Given the description of an element on the screen output the (x, y) to click on. 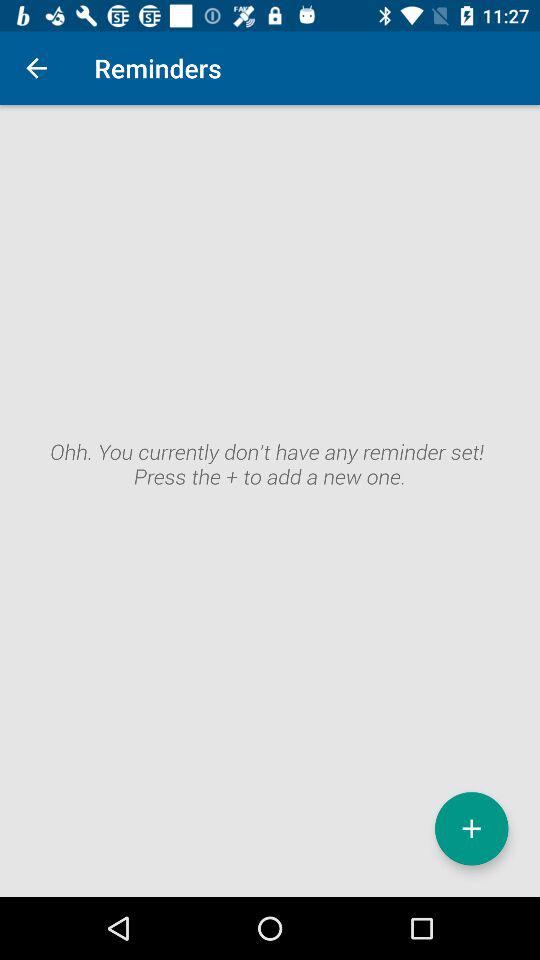
reminder section (270, 501)
